Given the description of an element on the screen output the (x, y) to click on. 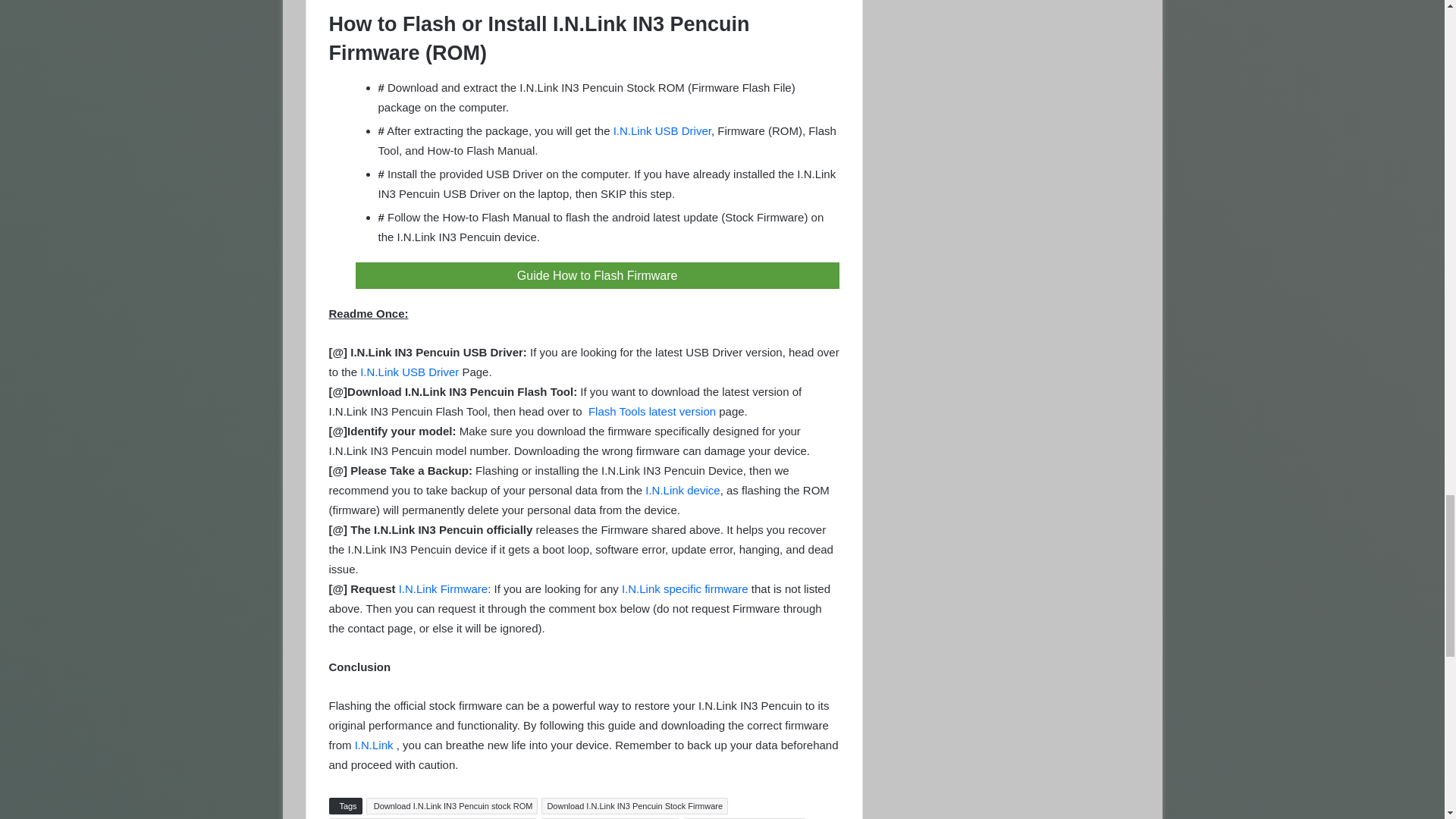
Download I.N.Link IN3 Pencuin Stock Firmware (634, 805)
I.N.Link Firmware (442, 588)
 Download I.N.Link IN3 Pencuin stock ROM (452, 805)
I.N.Link (374, 744)
I.N.Link USB Driver (410, 371)
I.N.Link USB Driver (661, 130)
Guide How to Flash Firmware (596, 275)
Flash Tools latest version (650, 410)
I.N.Link specific firmware (684, 588)
I.N.Link device (682, 490)
